Given the description of an element on the screen output the (x, y) to click on. 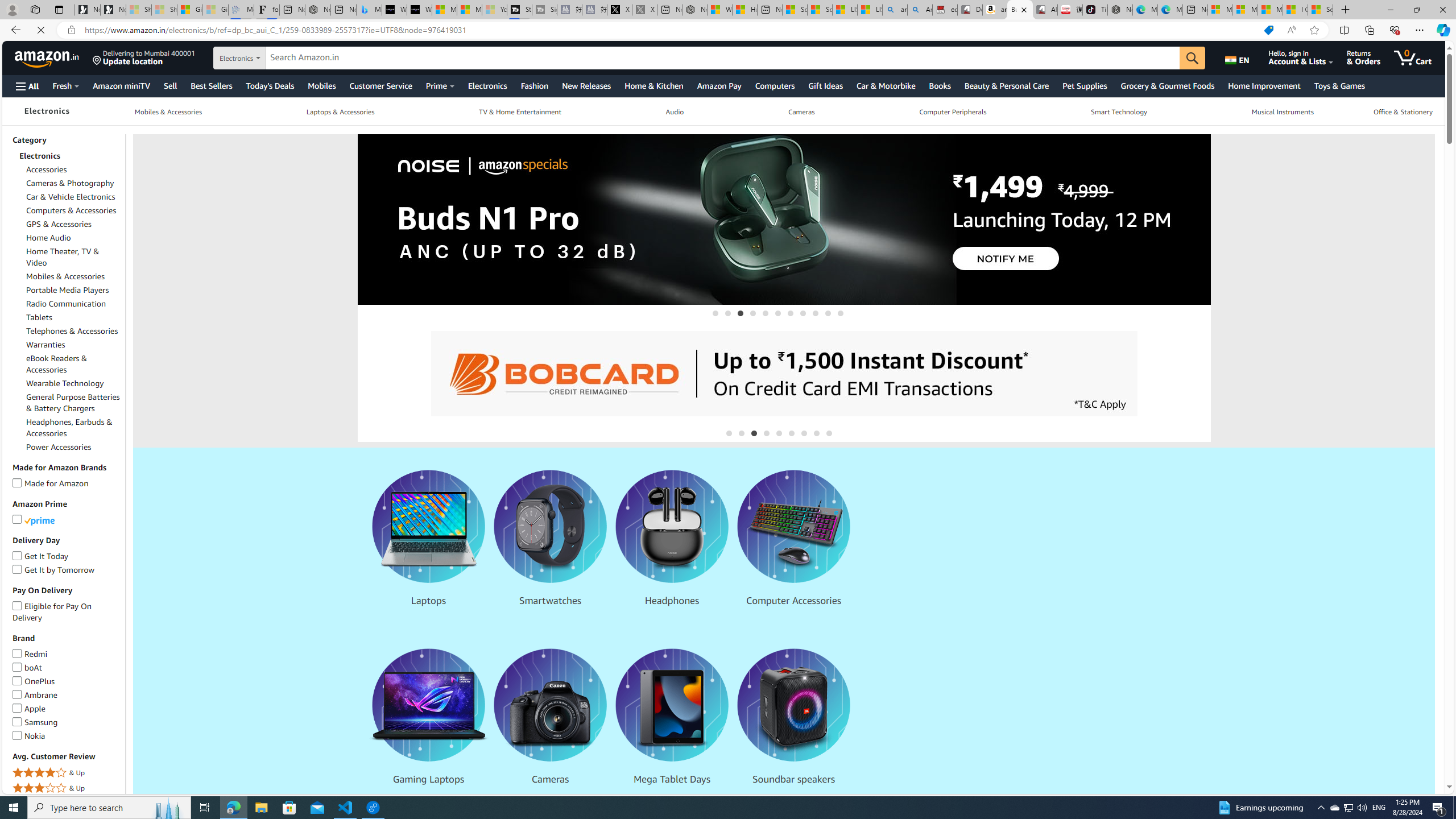
Hello, sign in Account & Lists (1307, 57)
X (619, 9)
All Cubot phones (1044, 9)
What's the best AI voice generator? - voice.ai (418, 9)
Best Sellers (210, 85)
0 items in cart (1420, 57)
Wildlife - MSN (718, 9)
Nordace - My Account (694, 9)
amazon.in/dp/B0CX59H5W7/?tag=gsmcom05-21 (993, 9)
